Given the description of an element on the screen output the (x, y) to click on. 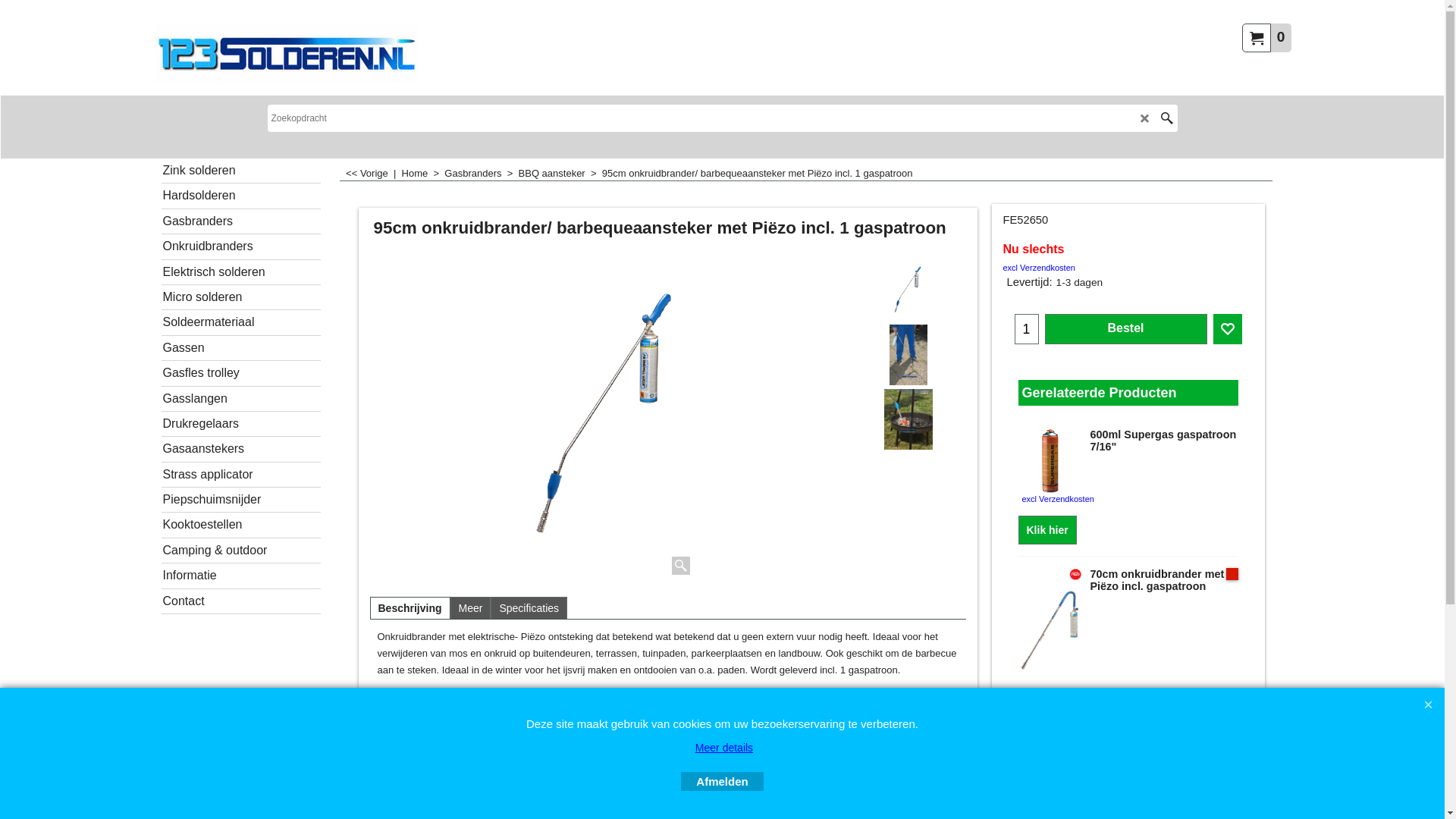
Meer details Element type: text (724, 747)
Contact Element type: text (240, 601)
excl Verzendkosten Element type: text (1058, 693)
52650 Element type: hover (608, 419)
 << Vorige  Element type: text (366, 172)
excl Verzendkosten Element type: text (1038, 267)
1 Element type: text (1025, 328)
Gasbranders  >  Element type: text (480, 172)
Informatie Element type: text (240, 575)
0 Element type: text (1266, 36)
Beschrijving Element type: text (409, 608)
Piepschuimsnijder Element type: text (240, 499)
Zoeken Element type: hover (1166, 117)
excl Verzendkosten Element type: text (1058, 498)
Camping & outdoor Element type: text (240, 550)
Onkruidbranders Element type: text (240, 246)
Zink solderen Element type: text (240, 170)
Micro solderen Element type: text (240, 297)
LD_CANCEL Element type: hover (1144, 117)
Klik hier Element type: text (1047, 724)
Gasbranders Element type: text (240, 221)
Soldeermateriaal Element type: text (240, 322)
600ml Supergas gaspatroon 7/16"  Element type: hover (1049, 460)
Kooktoestellen Element type: text (240, 524)
Gassen Element type: text (240, 347)
Gasslangen Element type: text (240, 398)
Favorieten Element type: hover (1227, 328)
600ml Supergas gaspatroon 7/16" Element type: text (1127, 440)
BBQ aansteker  >  Element type: text (560, 172)
Gasfles trolley Element type: text (240, 372)
Home  >  Element type: text (423, 172)
Meer Element type: text (470, 608)
Hardsolderen Element type: text (240, 195)
Afmelden Element type: text (721, 780)
Bestel Element type: text (1124, 328)
Elektrisch solderen Element type: text (240, 272)
Klik hier Element type: text (1047, 529)
Strass applicator Element type: text (240, 474)
Specificaties Element type: text (528, 608)
Drukregelaars Element type: text (240, 423)
Gasaanstekers Element type: text (240, 448)
